Given the description of an element on the screen output the (x, y) to click on. 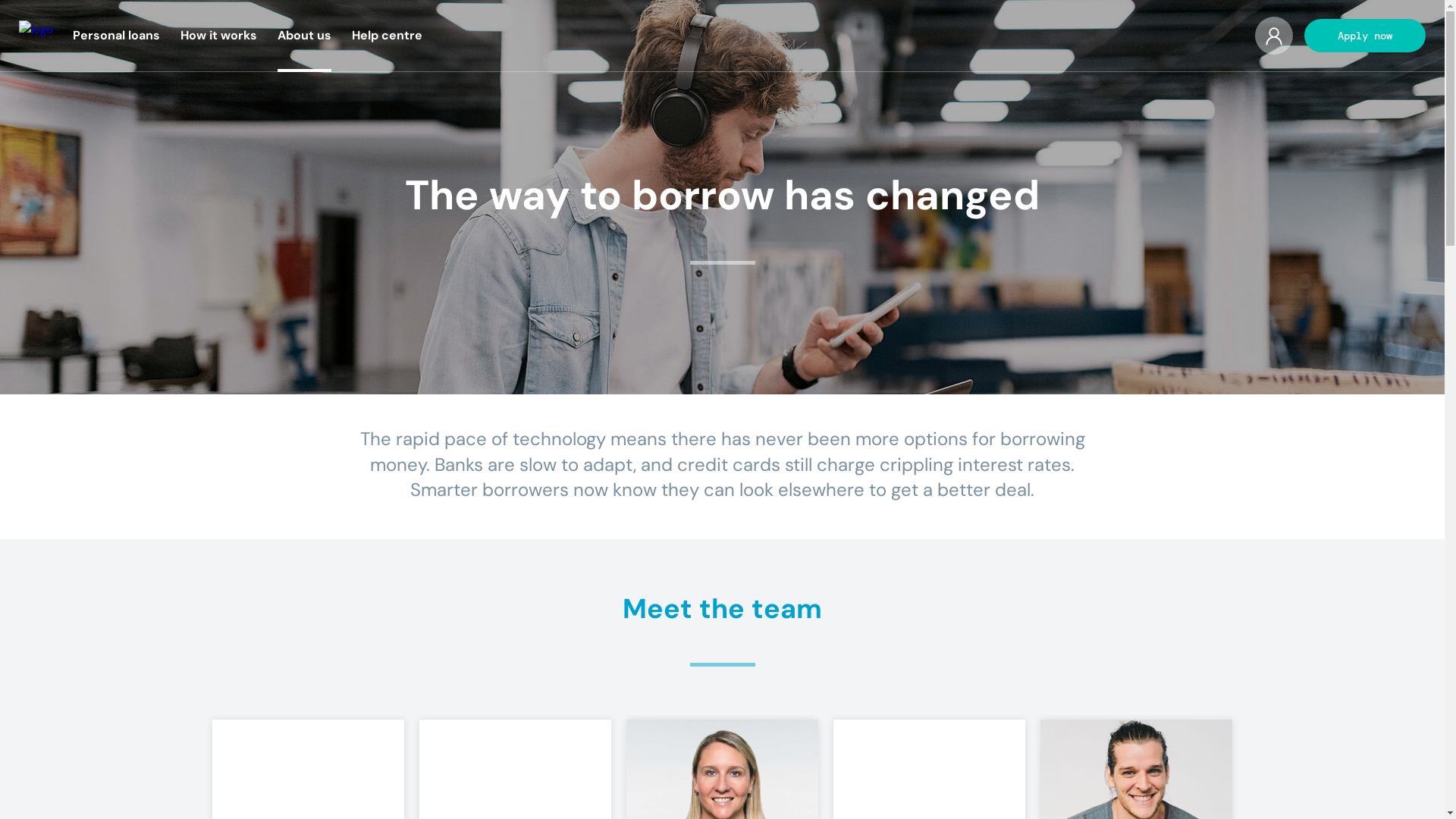
About us Element type: text (303, 35)
How it works Element type: text (217, 35)
Personal loans Element type: text (115, 35)
Help centre Element type: text (386, 35)
Apply now Element type: text (1364, 35)
user-button Element type: hover (1273, 35)
